Given the description of an element on the screen output the (x, y) to click on. 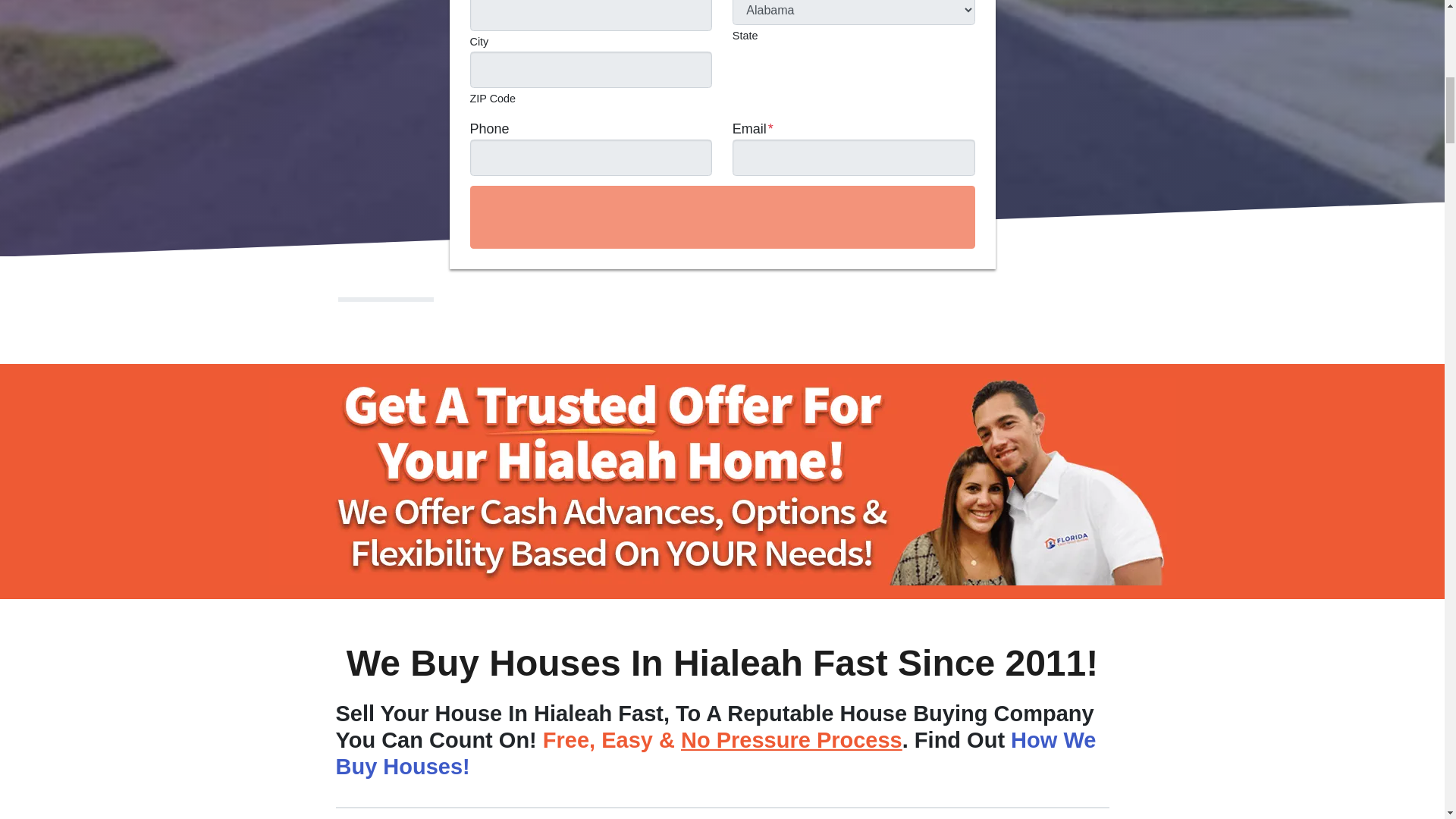
Get My Cash Offer Now! (722, 216)
Get My Cash Offer Now! (722, 216)
How We Buy Houses! (715, 753)
